Given the description of an element on the screen output the (x, y) to click on. 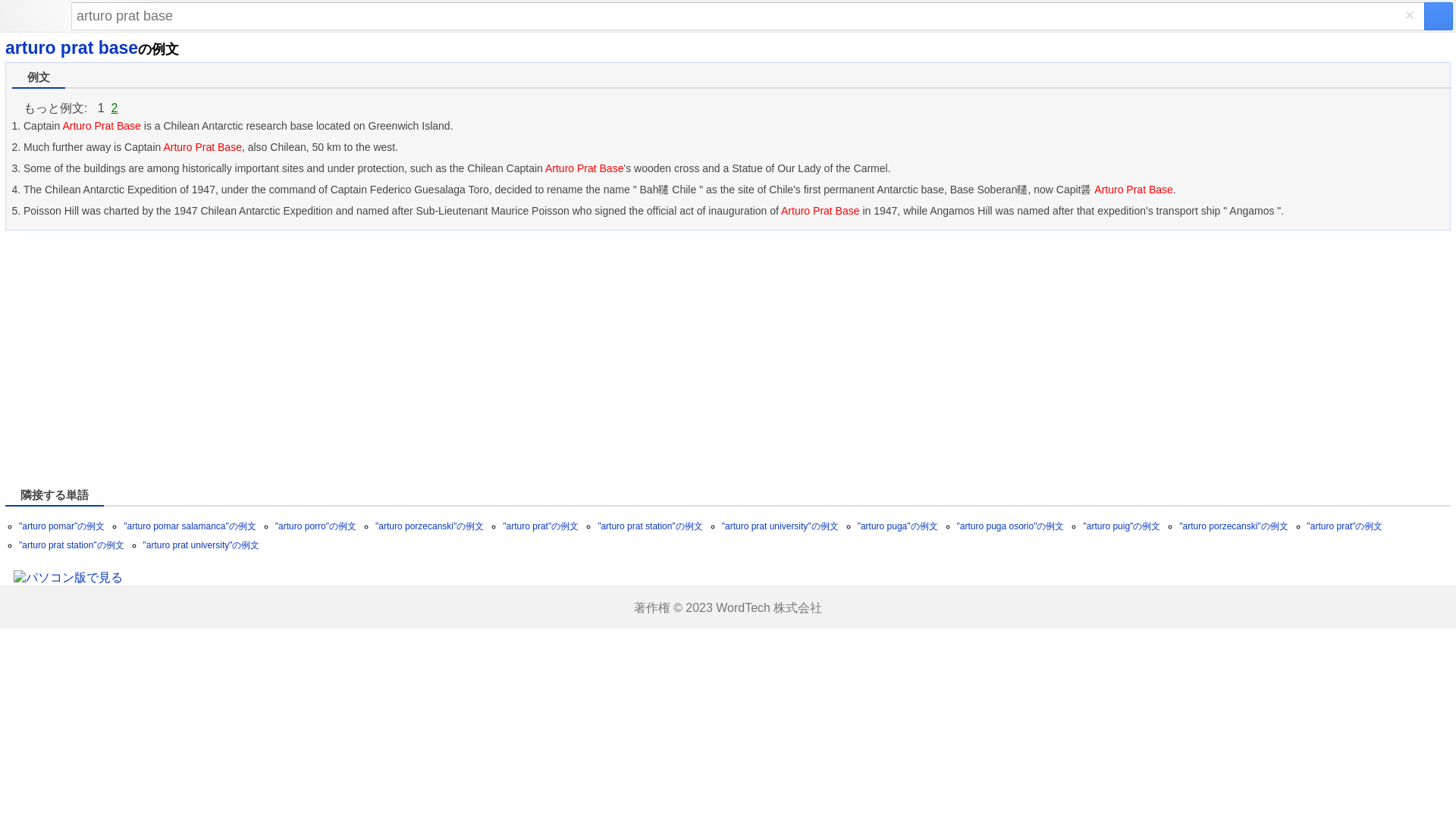
2 (114, 107)
Search (747, 16)
